Given the description of an element on the screen output the (x, y) to click on. 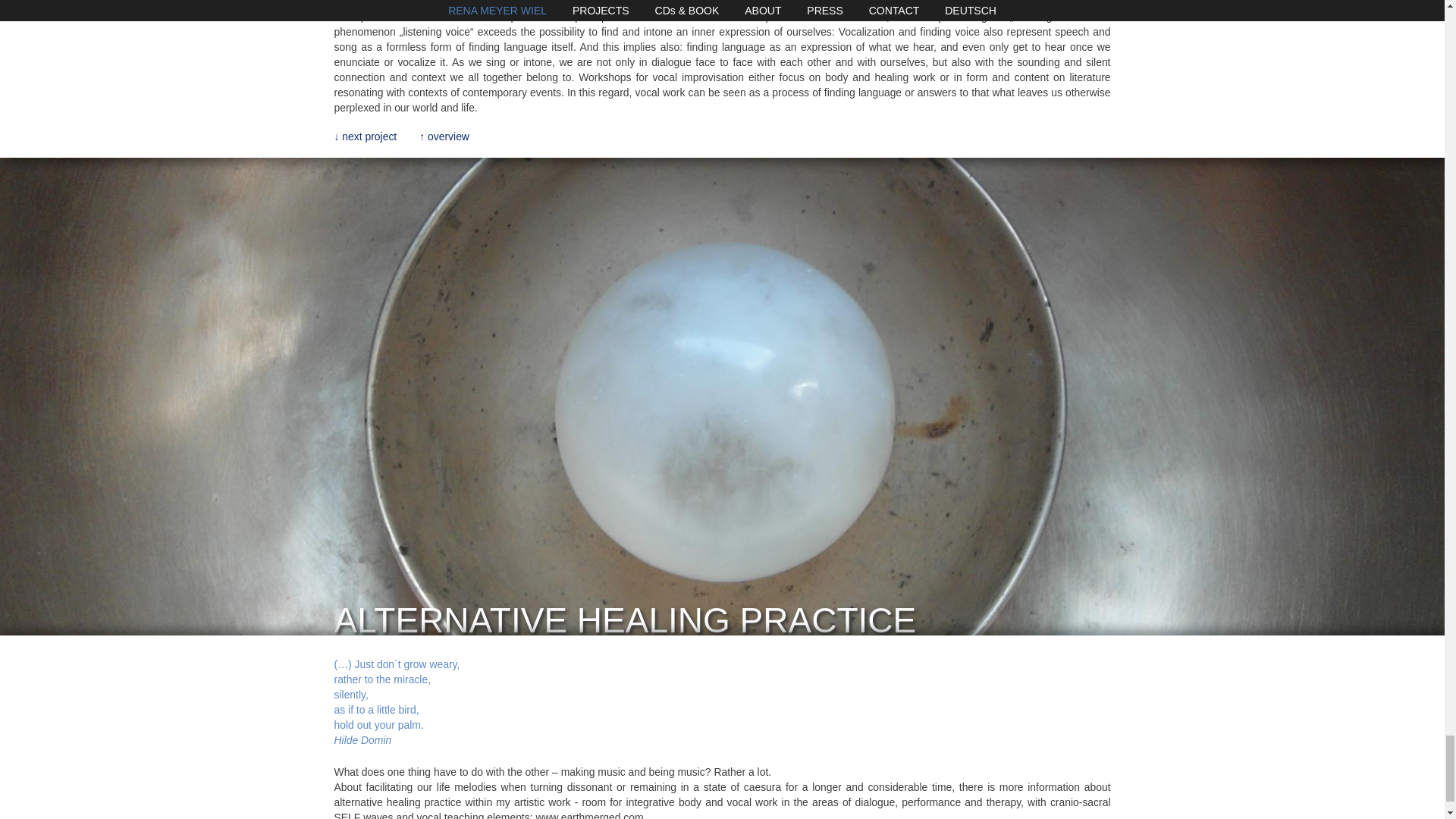
www.earthmerged.com (589, 815)
